Given the description of an element on the screen output the (x, y) to click on. 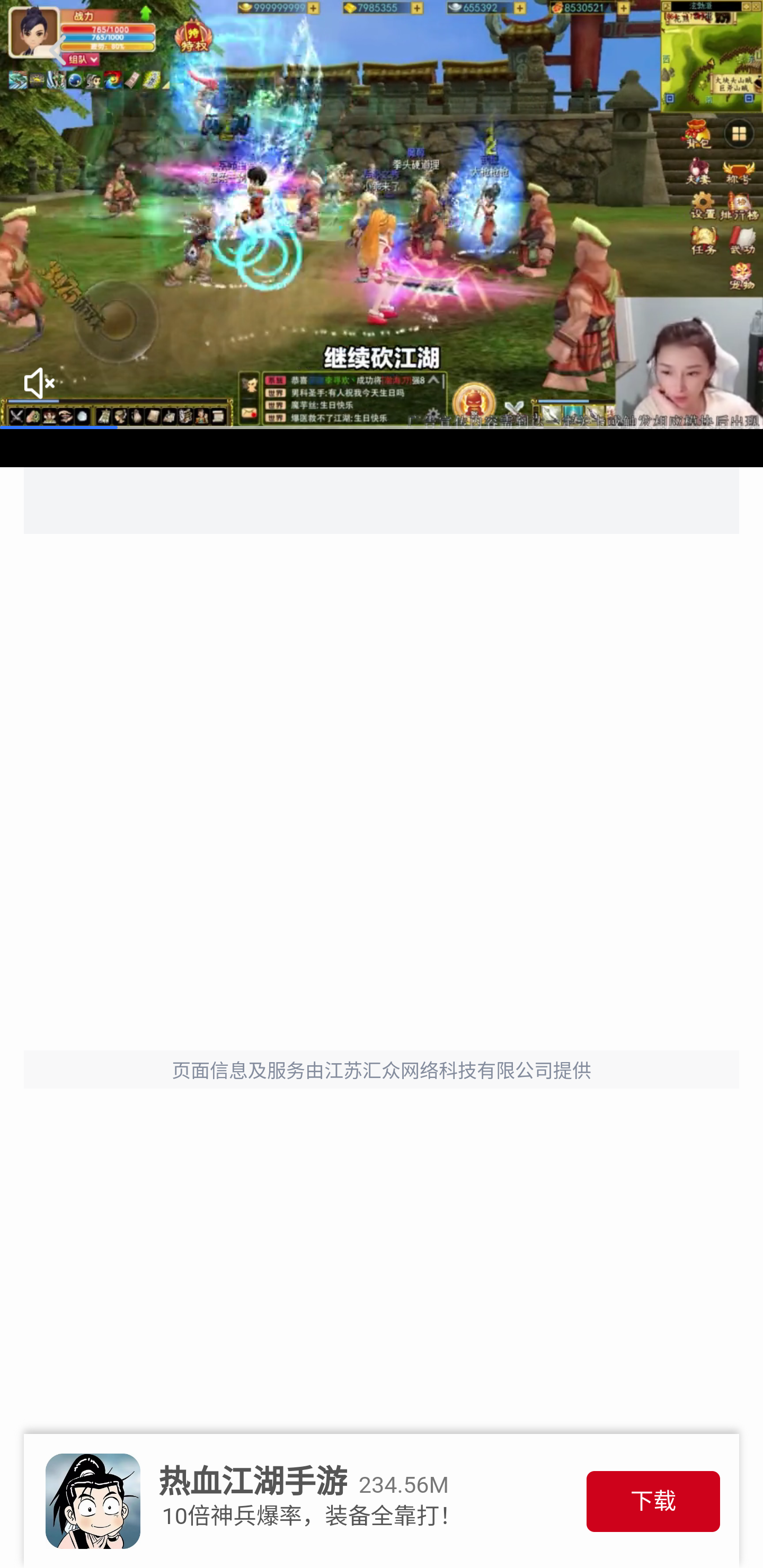
广告 5963.0 (381, 214)
下载 (653, 1500)
